Given the description of an element on the screen output the (x, y) to click on. 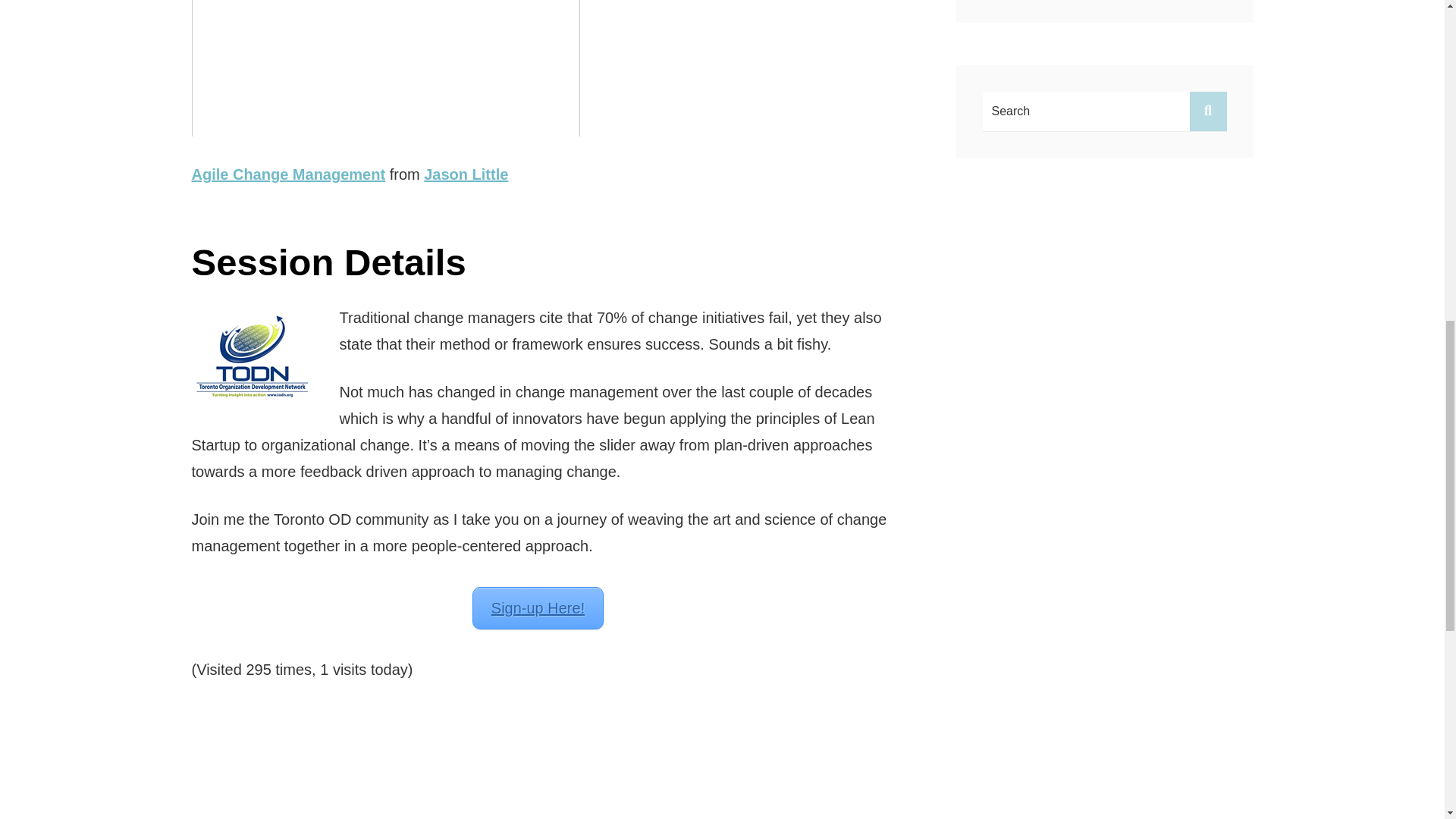
Jason Little (465, 174)
SEARCH (1207, 111)
Sign-up Here! (537, 608)
Agile Change Management (287, 174)
Agile Change Management (287, 174)
